Given the description of an element on the screen output the (x, y) to click on. 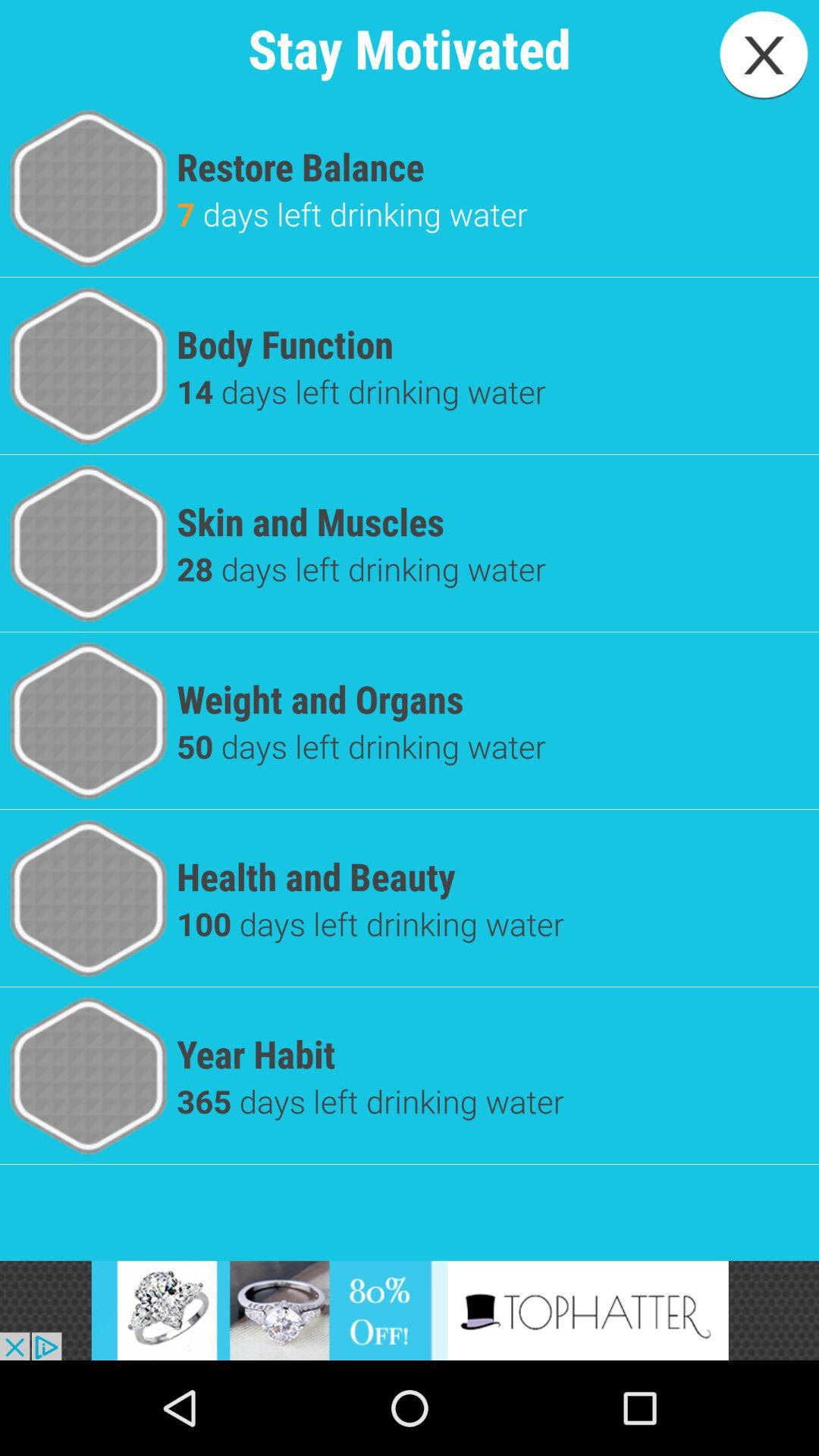
close page (763, 55)
